Given the description of an element on the screen output the (x, y) to click on. 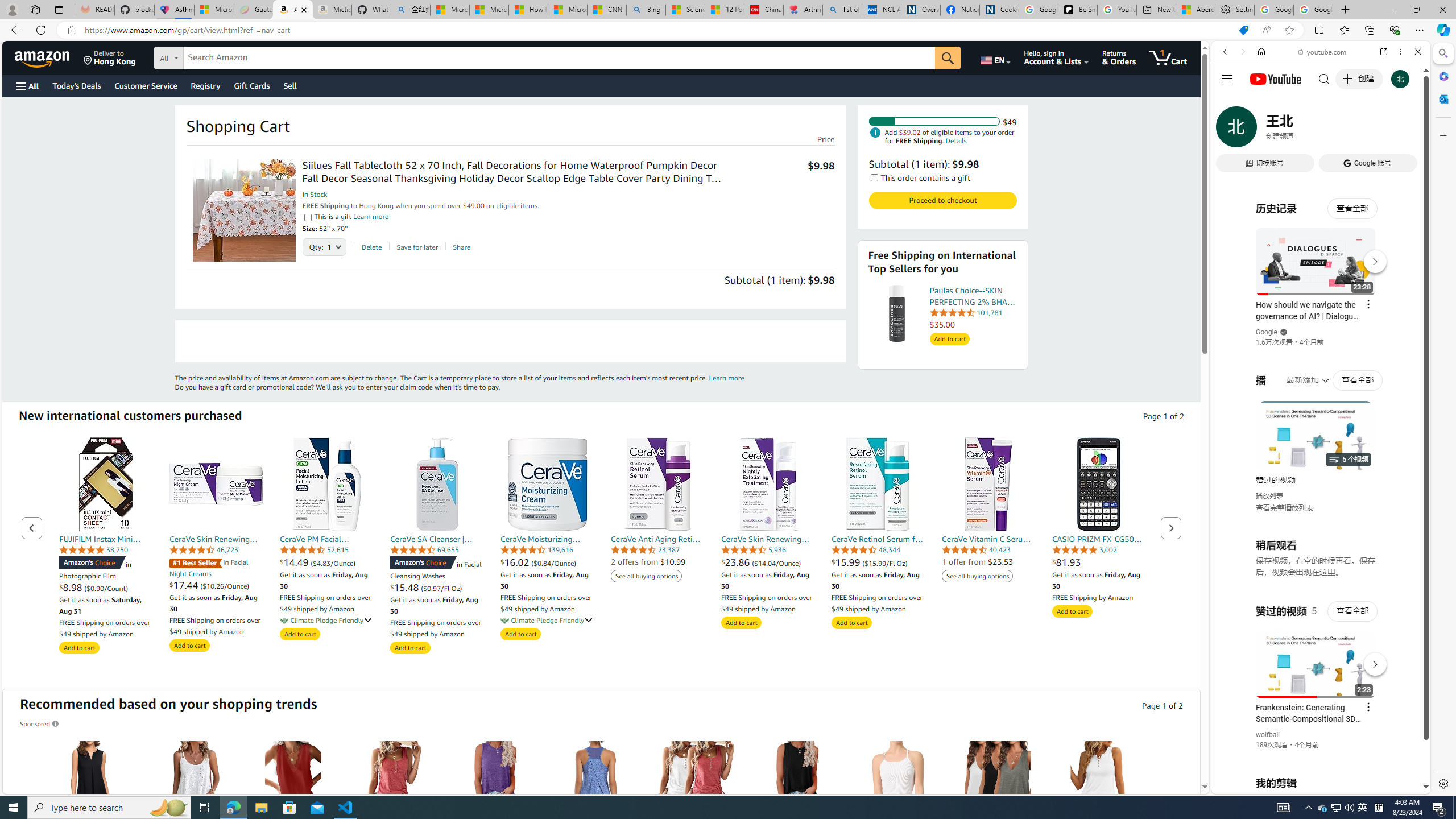
Next page (1170, 527)
Class: a-link-normal a-text-normal (878, 562)
